Given the description of an element on the screen output the (x, y) to click on. 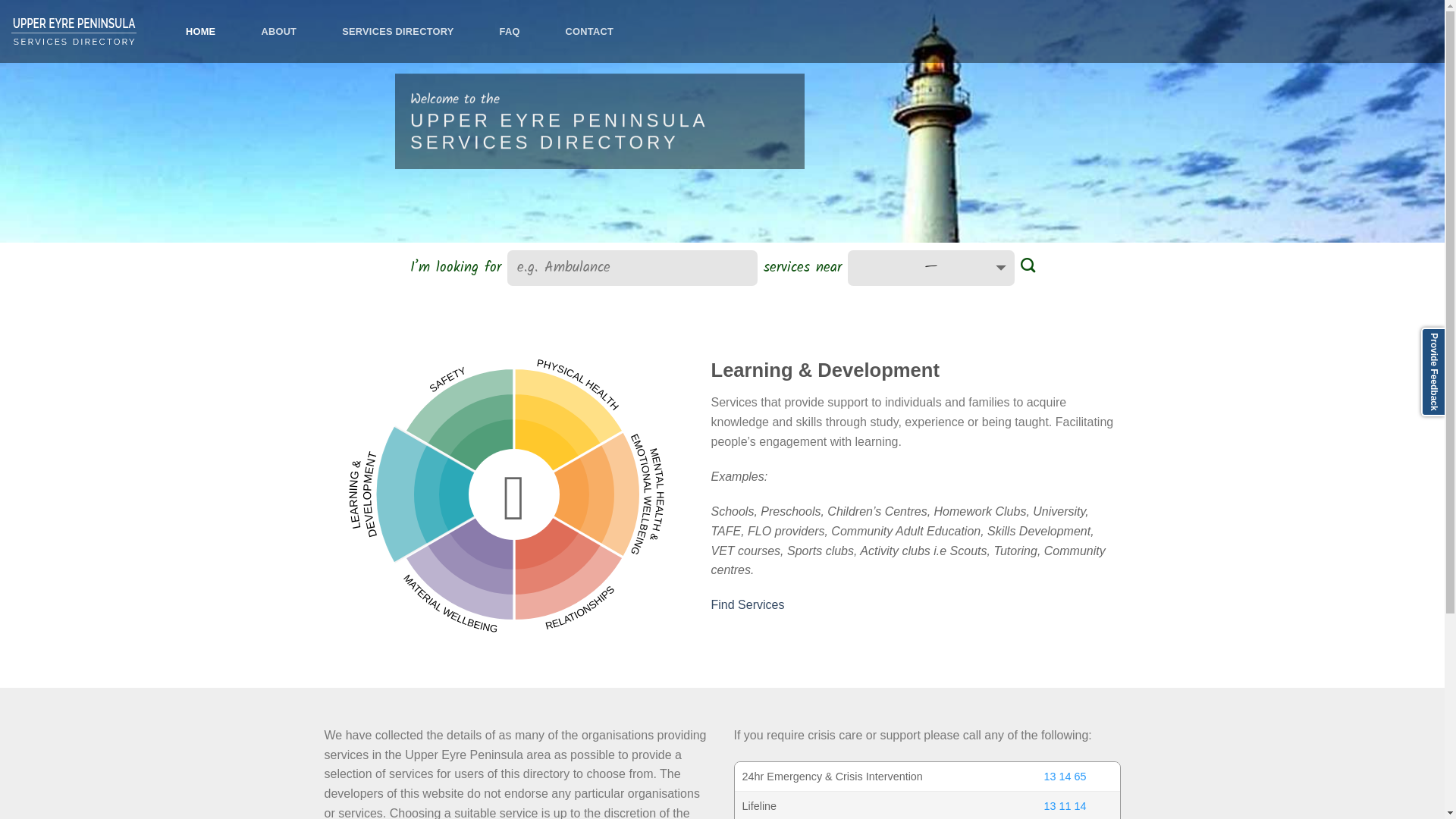
HOME Element type: text (200, 31)
CONTACT Element type: text (589, 31)
Find Services Element type: text (747, 604)
SERVICES DIRECTORY Element type: text (397, 31)
FAQ Element type: text (509, 31)
Skip to content Element type: text (0, 0)
ABOUT Element type: text (278, 31)
